Given the description of an element on the screen output the (x, y) to click on. 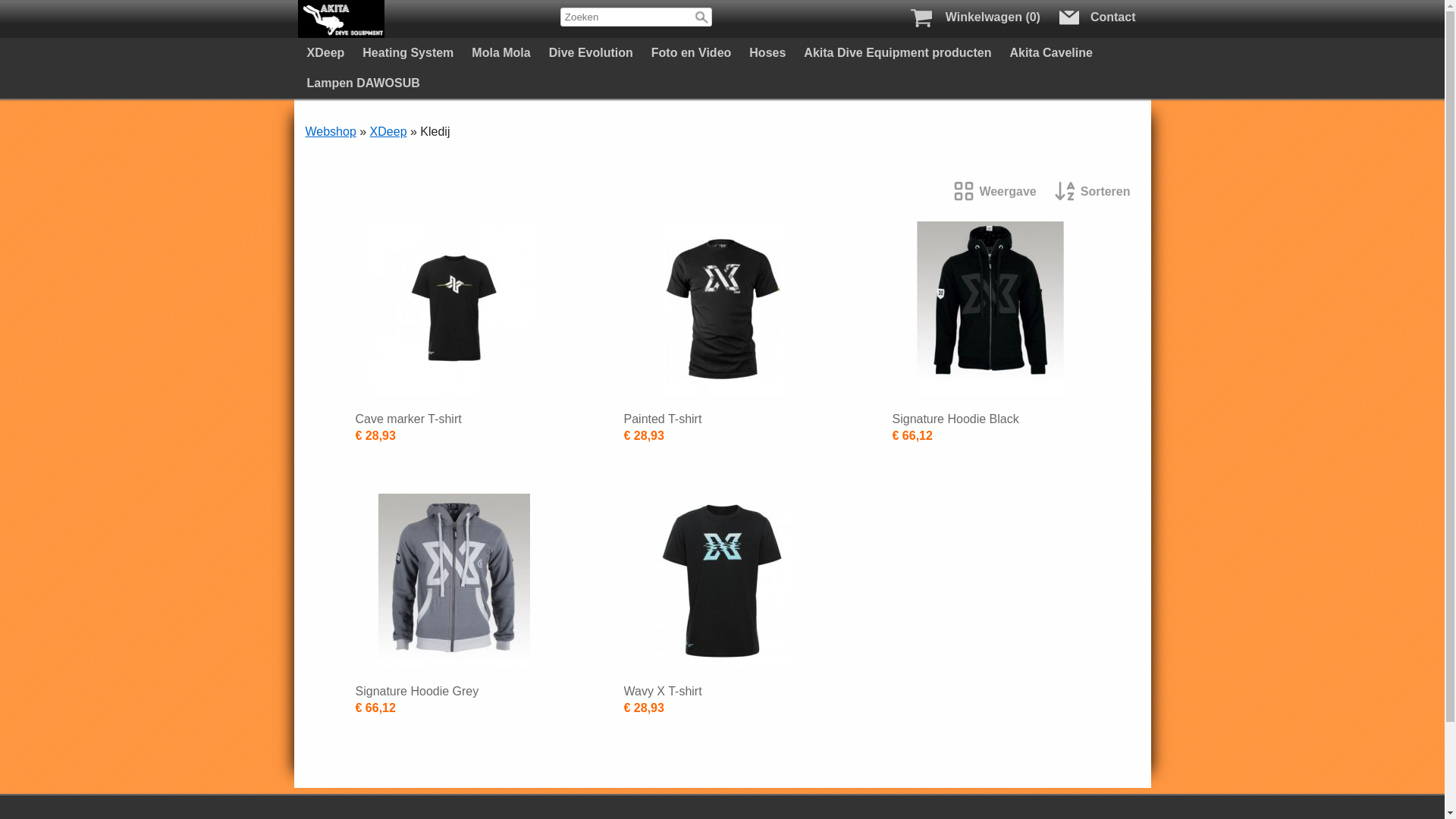
Heating System Element type: text (407, 52)
XDeep Element type: text (388, 131)
XDeep Element type: text (325, 52)
Akita Caveline Element type: text (1050, 52)
Foto en Video Element type: text (691, 52)
Hoses Element type: text (767, 52)
Mola Mola Element type: text (500, 52)
Lampen DAWOSUB Element type: text (362, 83)
WinkelwagenWinkelwagen (0) Element type: text (971, 17)
Akita Dive Equipment producten Element type: text (897, 52)
Webshop Element type: text (329, 131)
Dive Evolution Element type: text (590, 52)
Sorteren Element type: text (1092, 192)
Weergave Element type: text (994, 192)
Contact Element type: text (1099, 20)
